Given the description of an element on the screen output the (x, y) to click on. 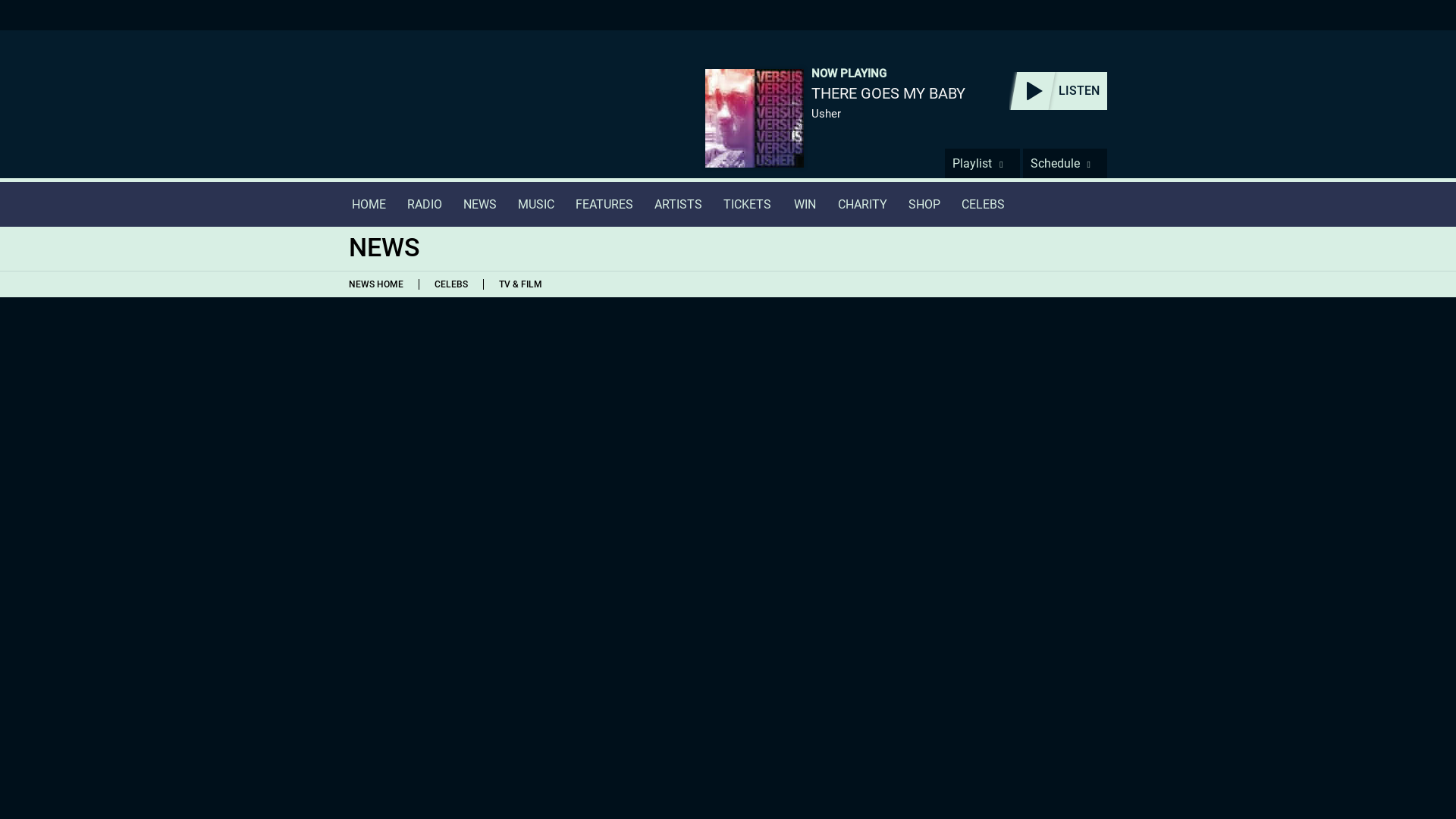
CELEBS (982, 203)
TICKETS (747, 203)
MUSIC (535, 203)
HOME (368, 203)
ARTISTS (678, 203)
CHARITY (862, 203)
Playlist (981, 163)
WIN (804, 203)
NEWS (479, 203)
LISTEN (1057, 90)
